Given the description of an element on the screen output the (x, y) to click on. 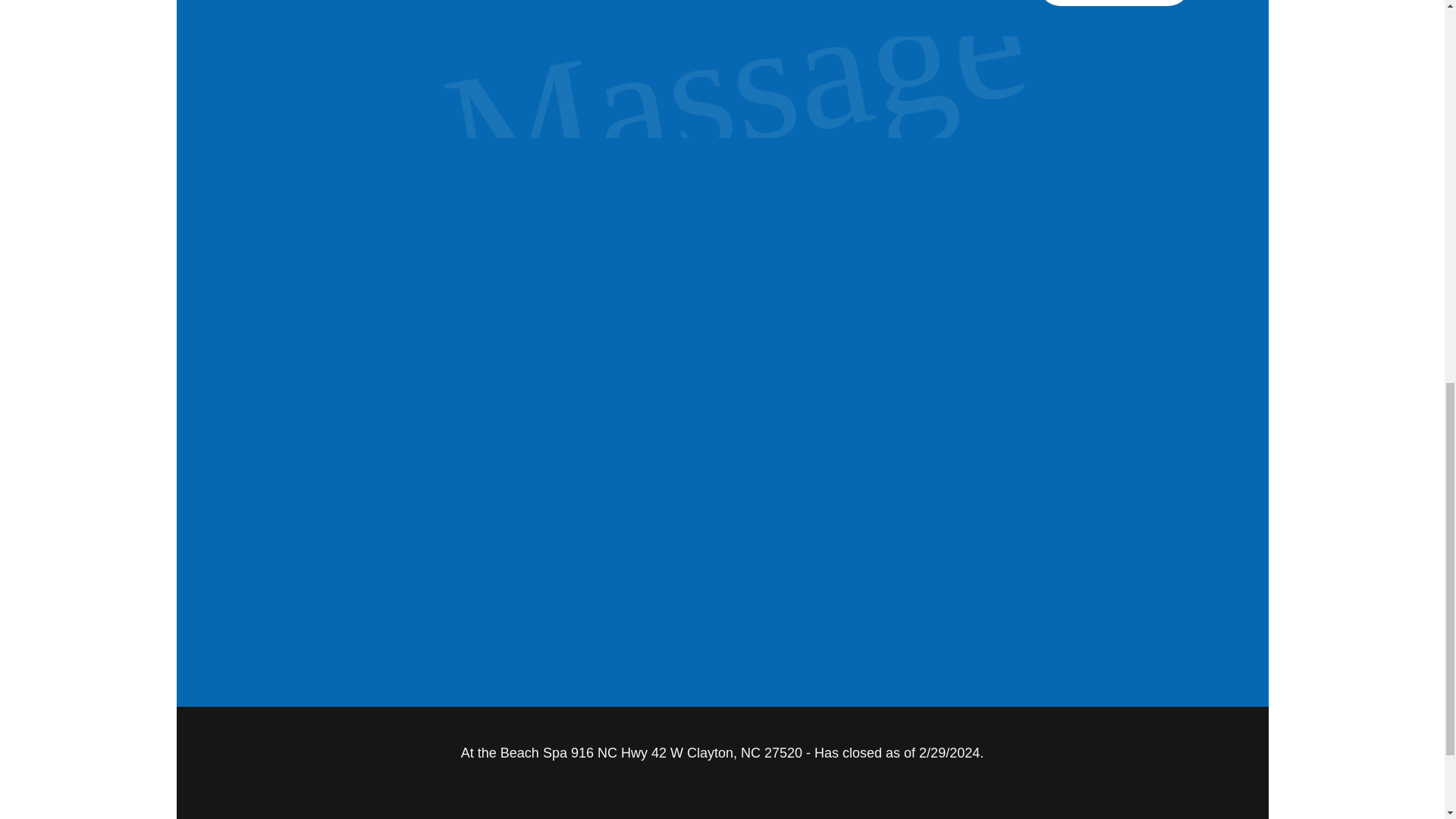
BOOK NOW (1114, 2)
